Given the description of an element on the screen output the (x, y) to click on. 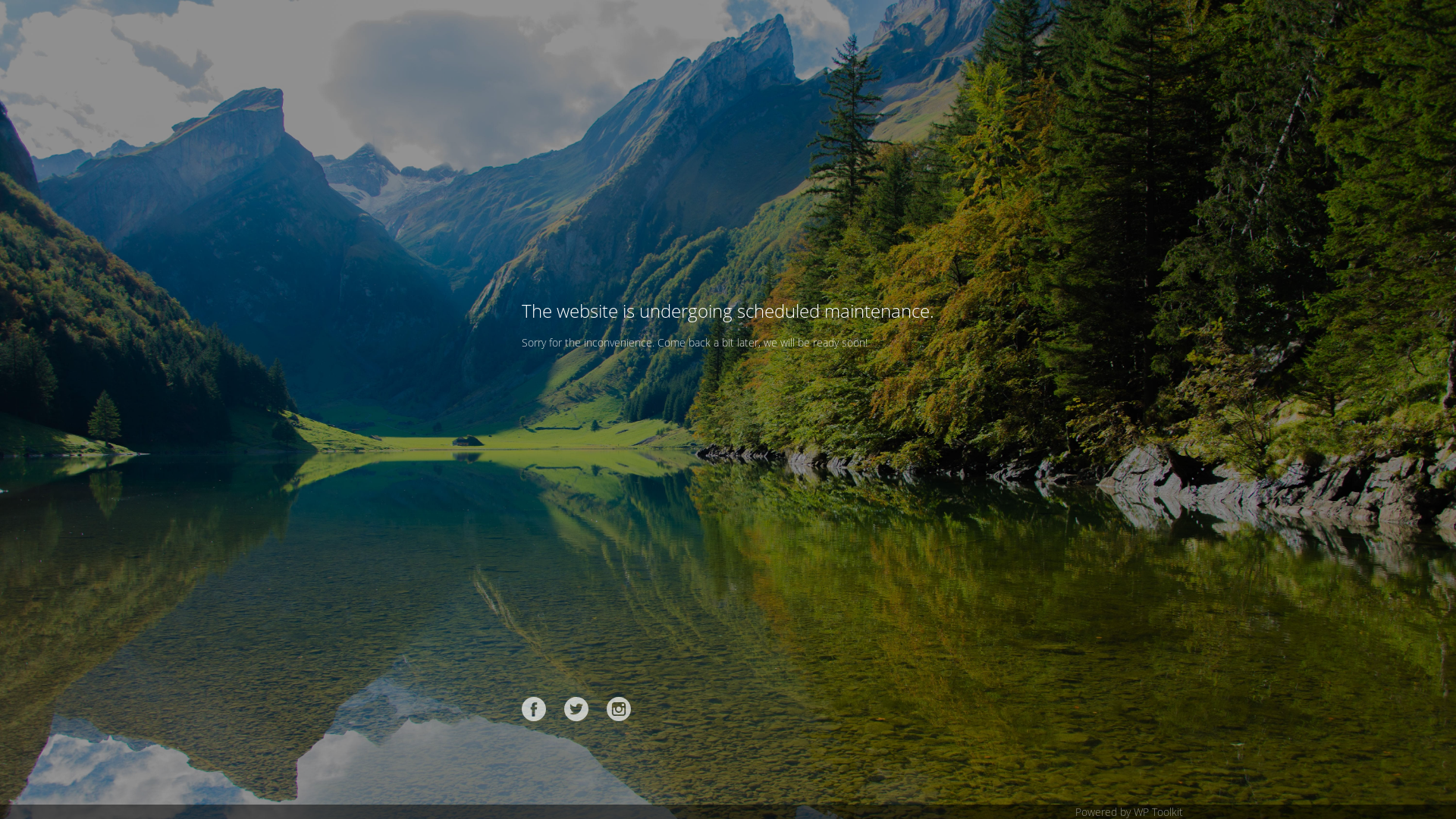
Instagram Element type: hover (618, 708)
Twitter Element type: hover (576, 708)
Facebook Element type: hover (533, 708)
